Given the description of an element on the screen output the (x, y) to click on. 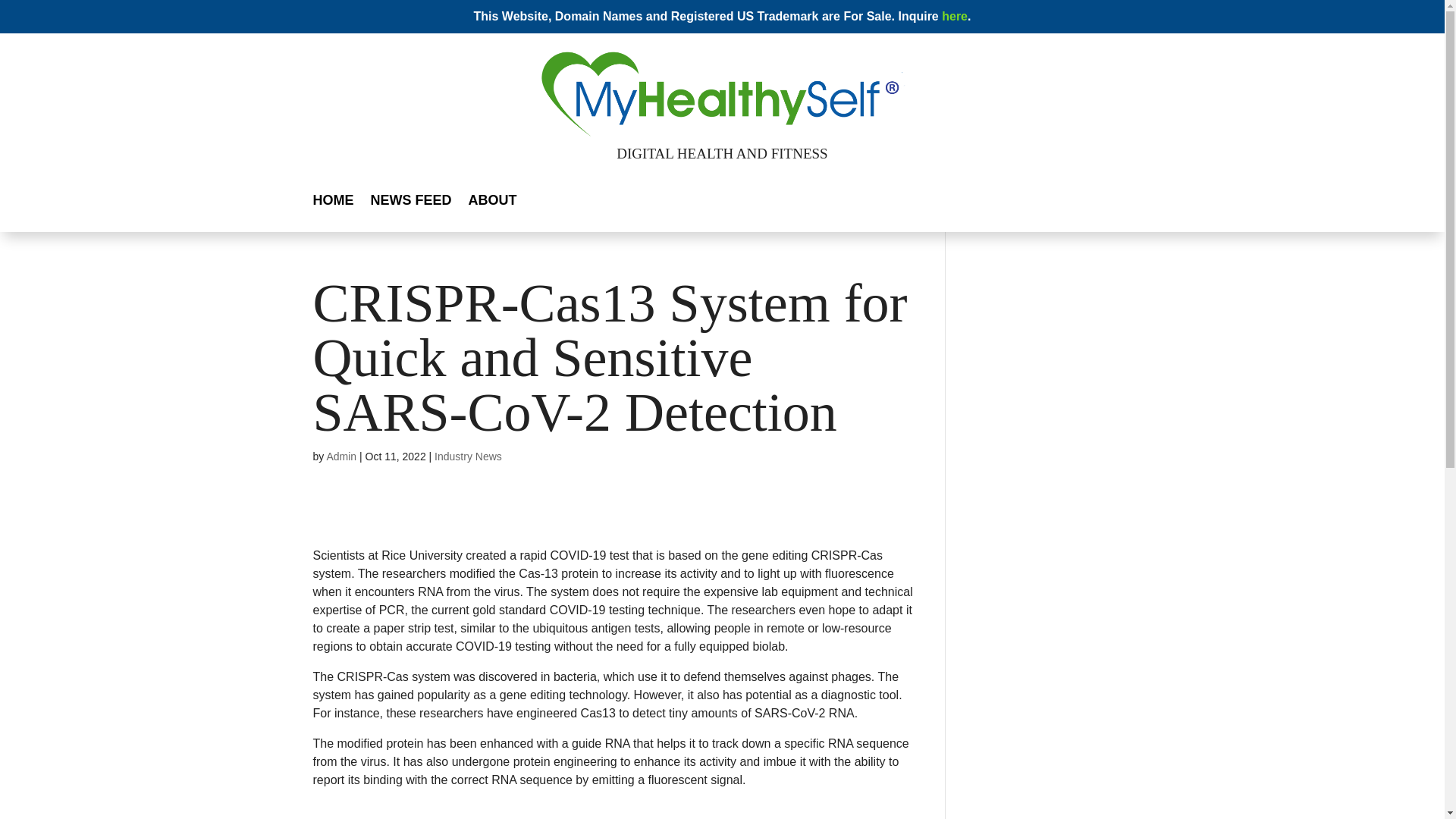
here (953, 15)
MyHealthySelf-logo1 (670, 79)
Admin (341, 456)
NEWS FEED (410, 202)
Industry News (467, 456)
ABOUT (492, 202)
Posts by Admin (341, 456)
HOME (333, 202)
